Given the description of an element on the screen output the (x, y) to click on. 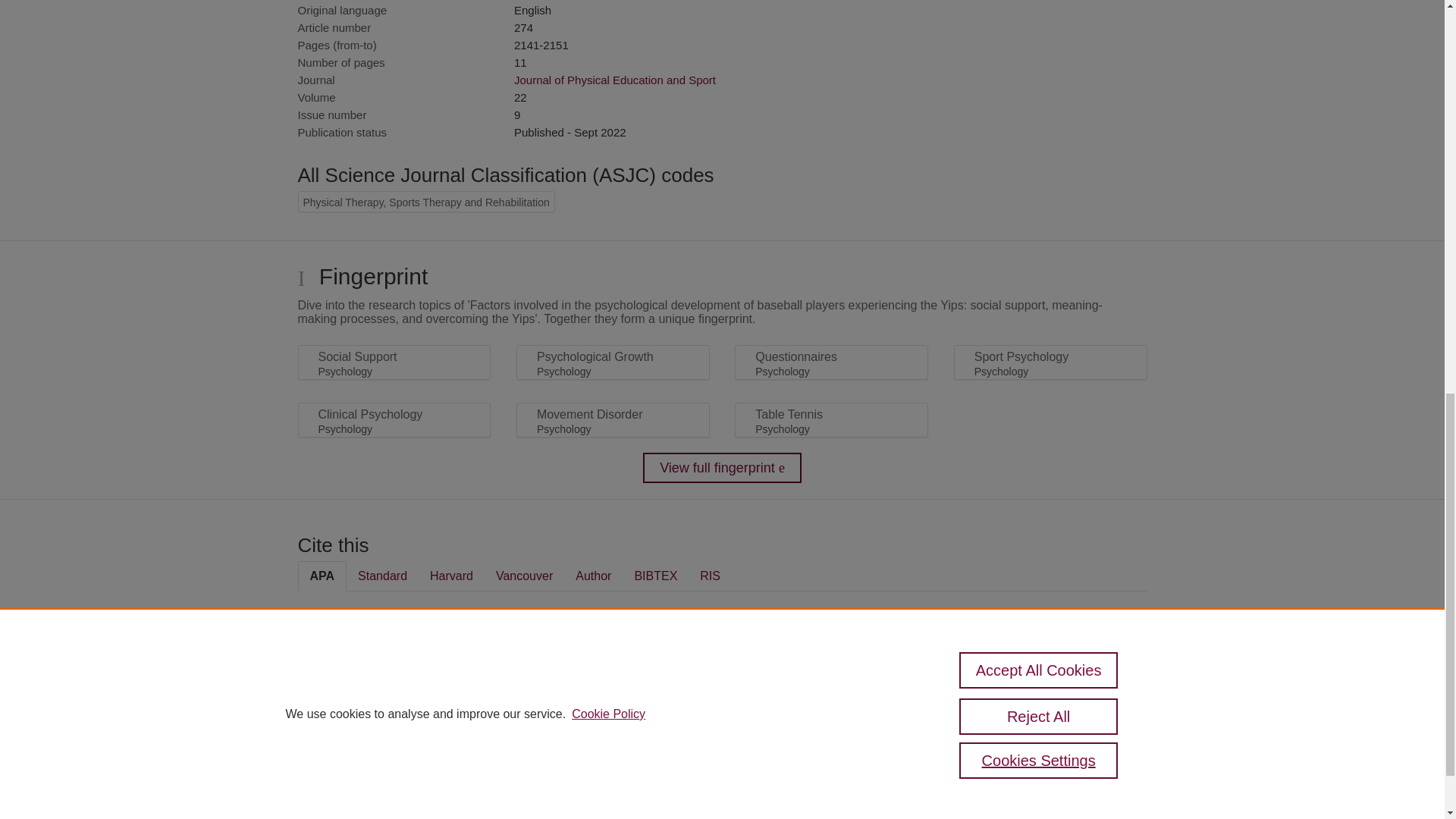
Journal of Physical Education and Sport (614, 79)
Pure (362, 754)
Scopus (394, 754)
use of cookies (796, 806)
Elsevier B.V. (506, 774)
View full fingerprint (722, 467)
